Given the description of an element on the screen output the (x, y) to click on. 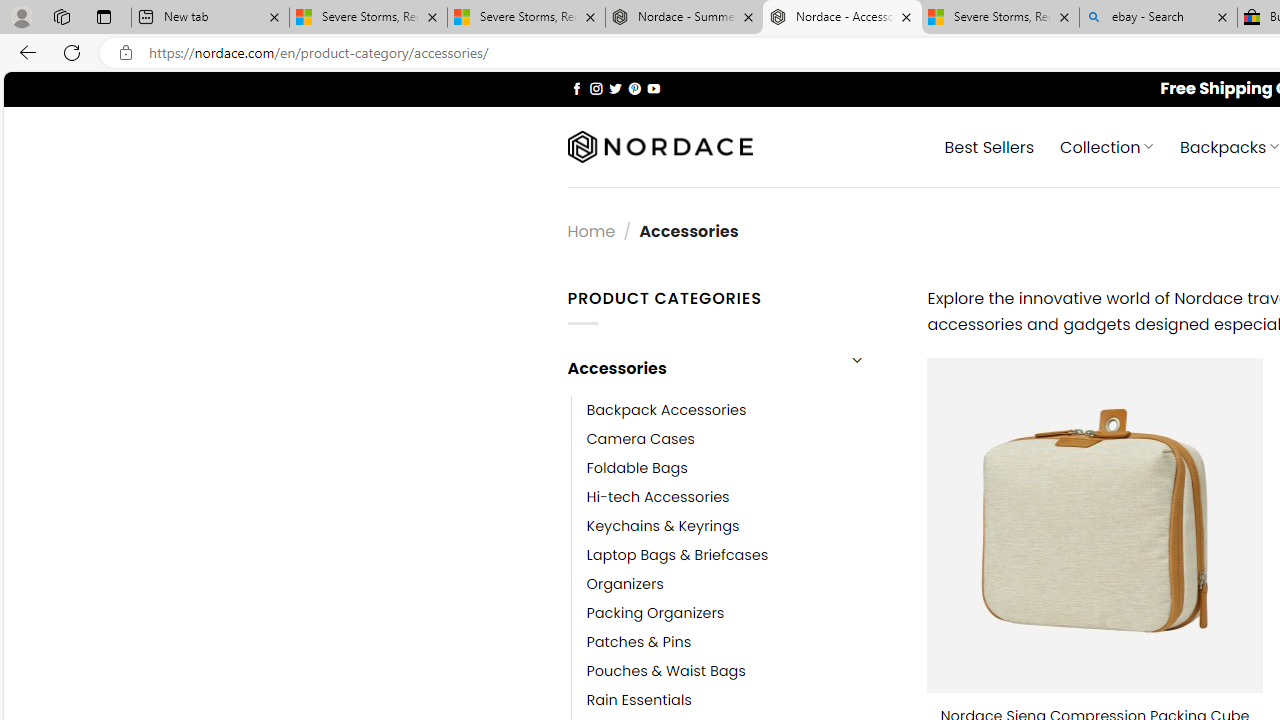
Hi-tech Accessories (742, 496)
Organizers (742, 584)
Backpack Accessories (742, 409)
Backpack Accessories (666, 409)
Accessories (700, 368)
